Given the description of an element on the screen output the (x, y) to click on. 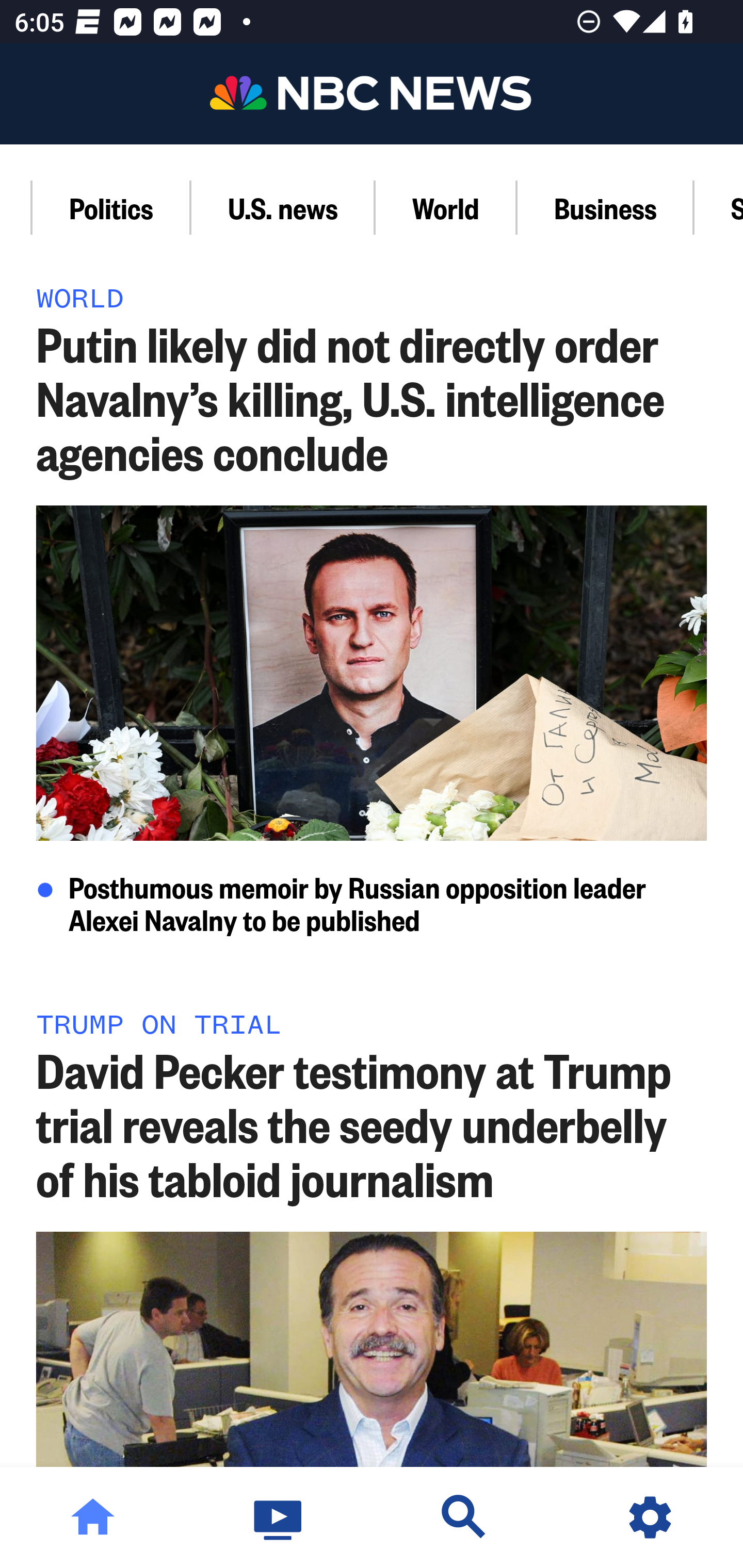
Politics Section,Politics (111, 207)
U.S. news Section,U.S. news (283, 207)
World Section,World (446, 207)
Business Section,Business (605, 207)
Watch (278, 1517)
Discover (464, 1517)
Settings (650, 1517)
